Given the description of an element on the screen output the (x, y) to click on. 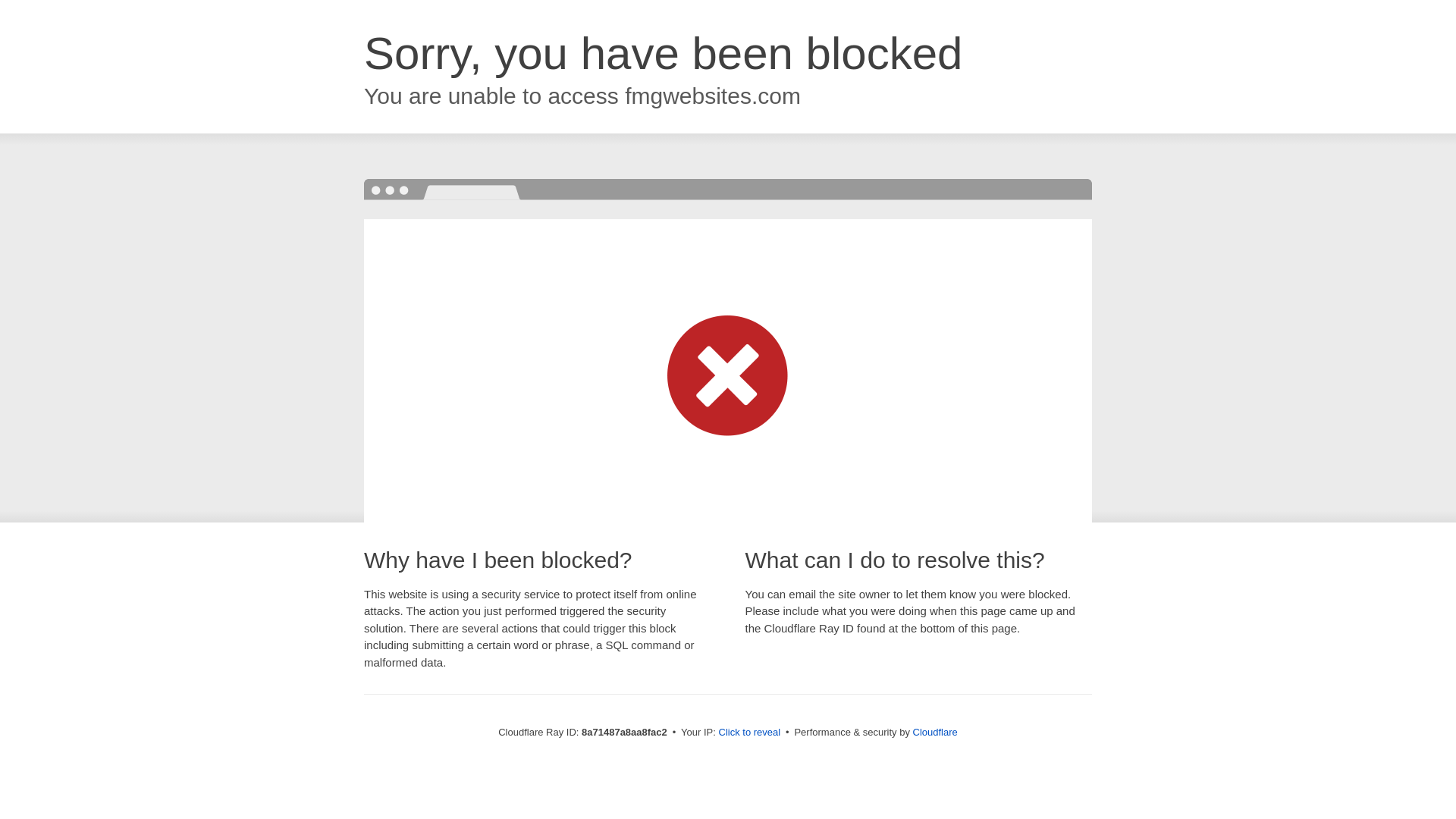
Cloudflare (935, 731)
Click to reveal (749, 732)
